Given the description of an element on the screen output the (x, y) to click on. 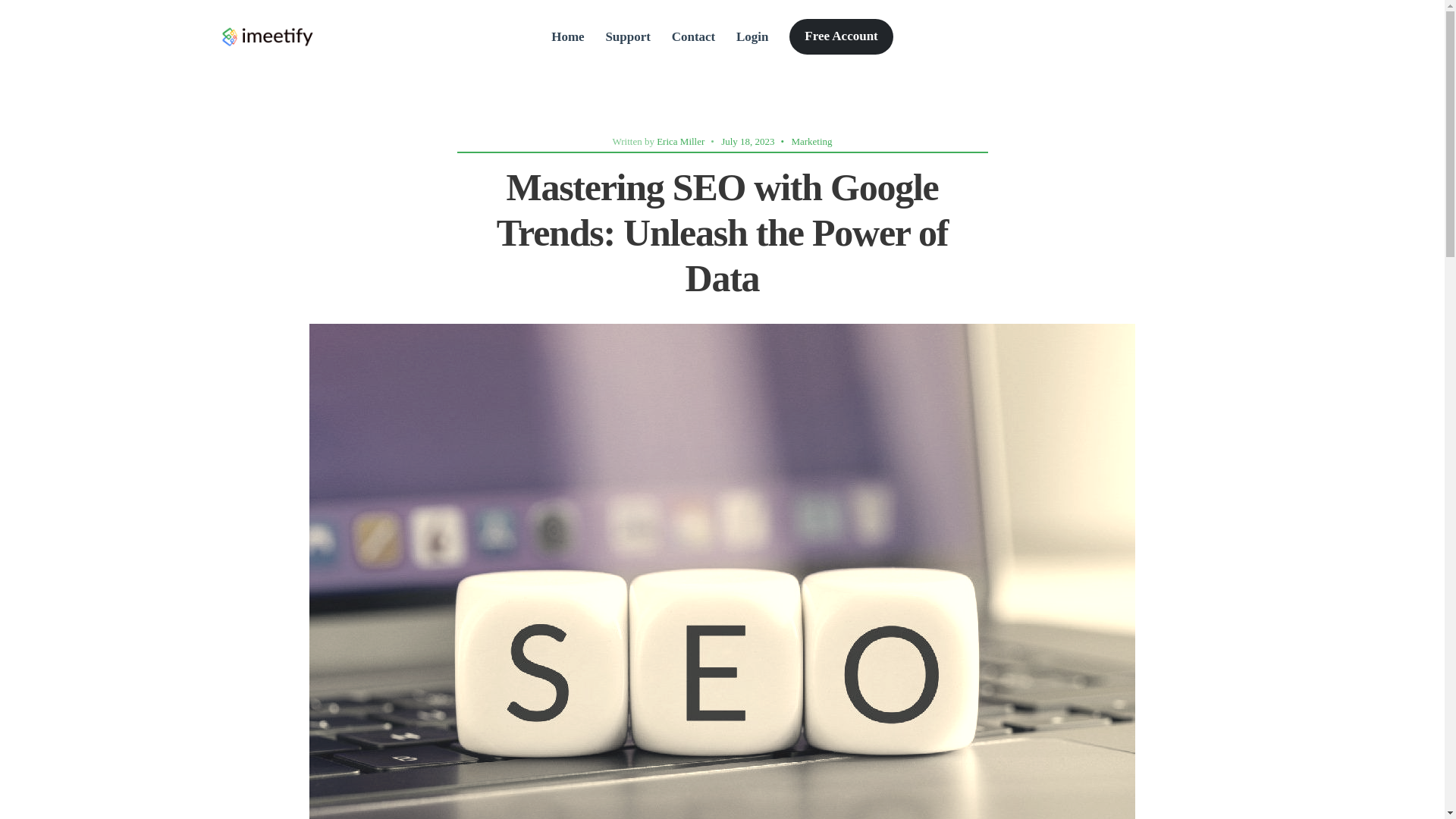
Contact (693, 36)
Posts by Erica Miller (680, 141)
Home (567, 36)
Marketing (810, 141)
Login (752, 36)
Free Account (840, 36)
Erica Miller (680, 141)
Support (627, 36)
